Given the description of an element on the screen output the (x, y) to click on. 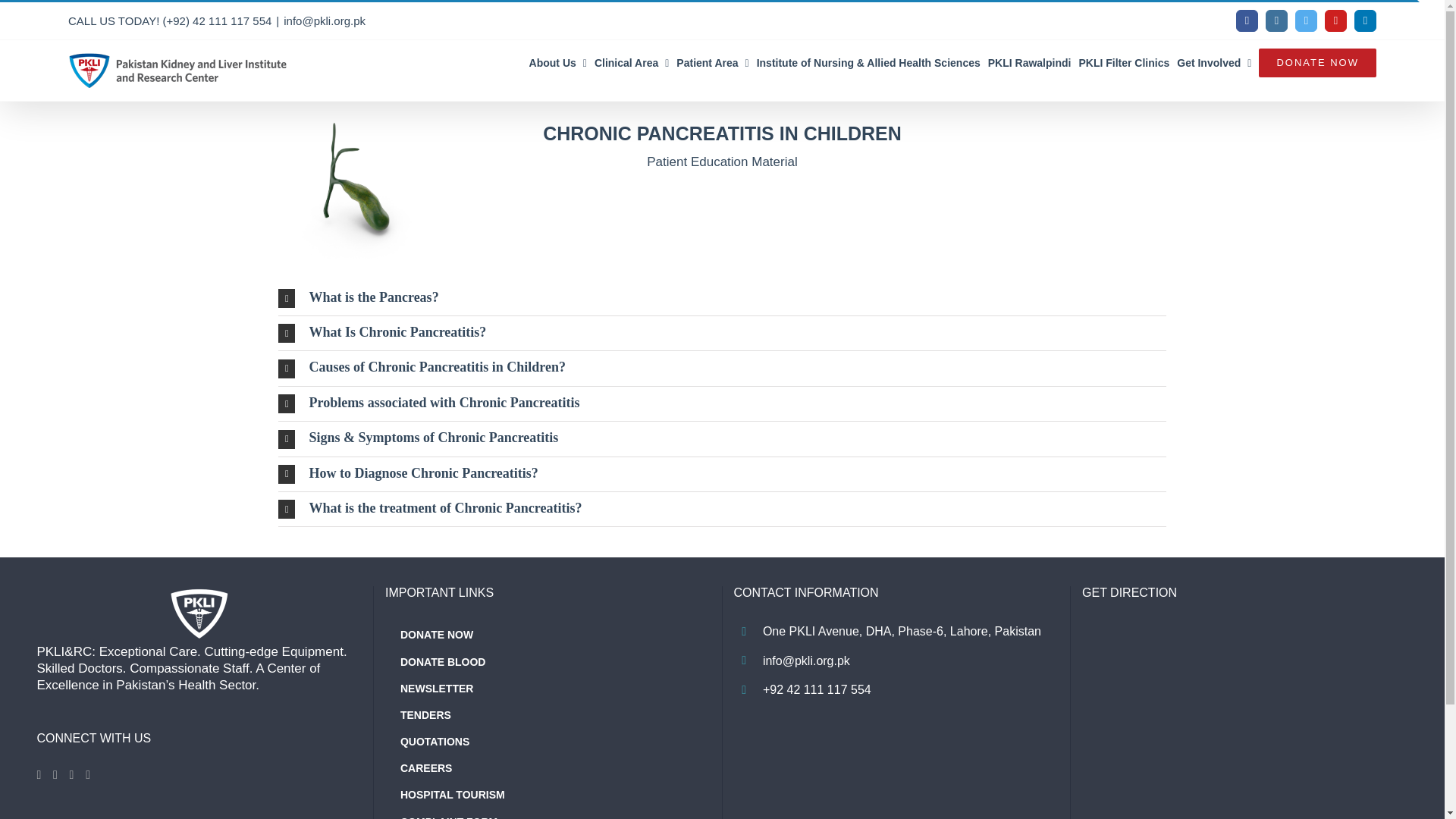
LinkedIn (1364, 20)
YouTube (1335, 20)
Twitter (1306, 20)
LinkedIn (1364, 20)
Clinical Area (631, 62)
Facebook (1246, 20)
Instagram (1276, 20)
Instagram (1276, 20)
Twitter (1306, 20)
Facebook (1246, 20)
